Given the description of an element on the screen output the (x, y) to click on. 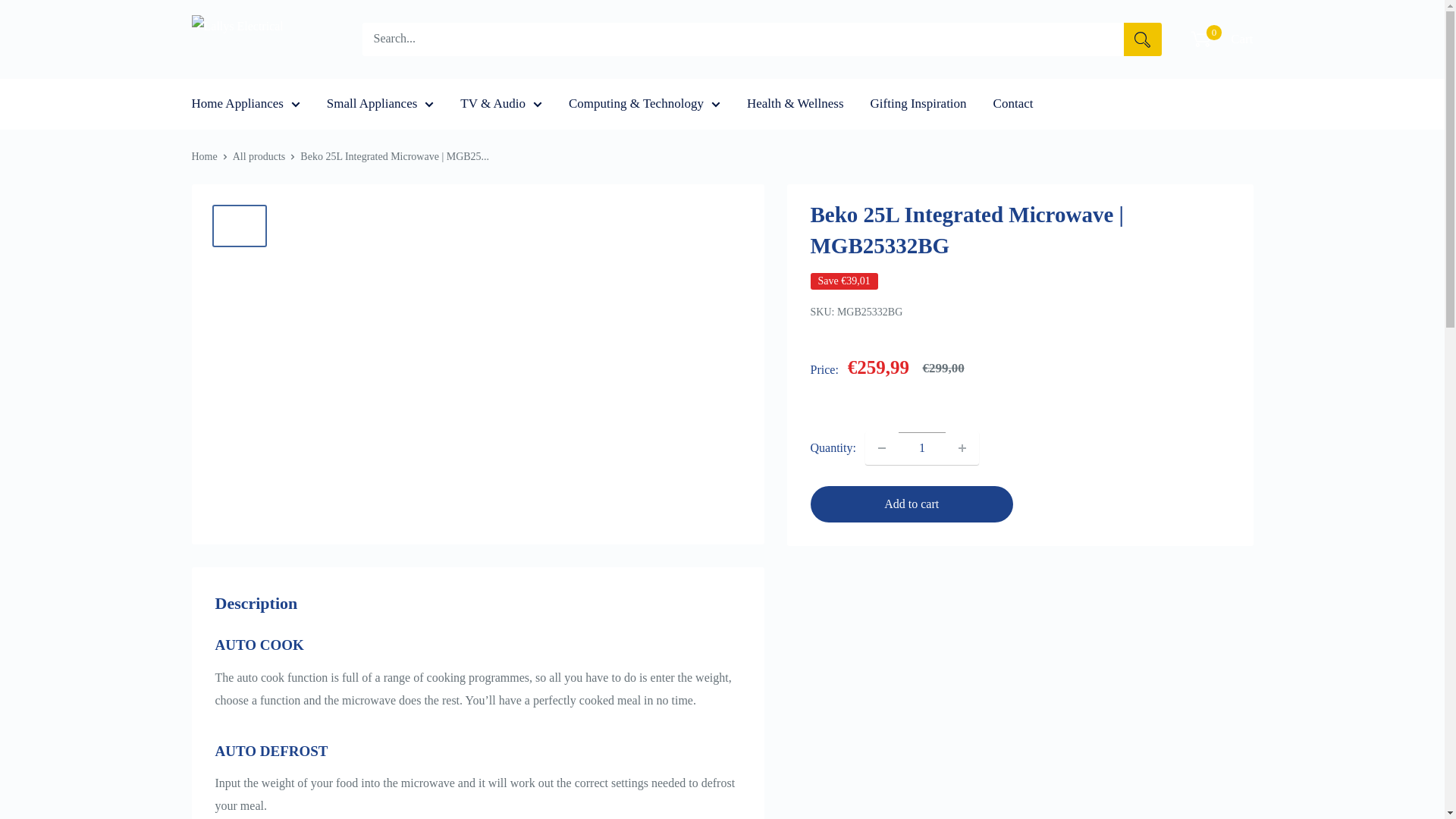
Decrease quantity by 1 (882, 448)
Increase quantity by 1 (962, 448)
1 (922, 448)
